Given the description of an element on the screen output the (x, y) to click on. 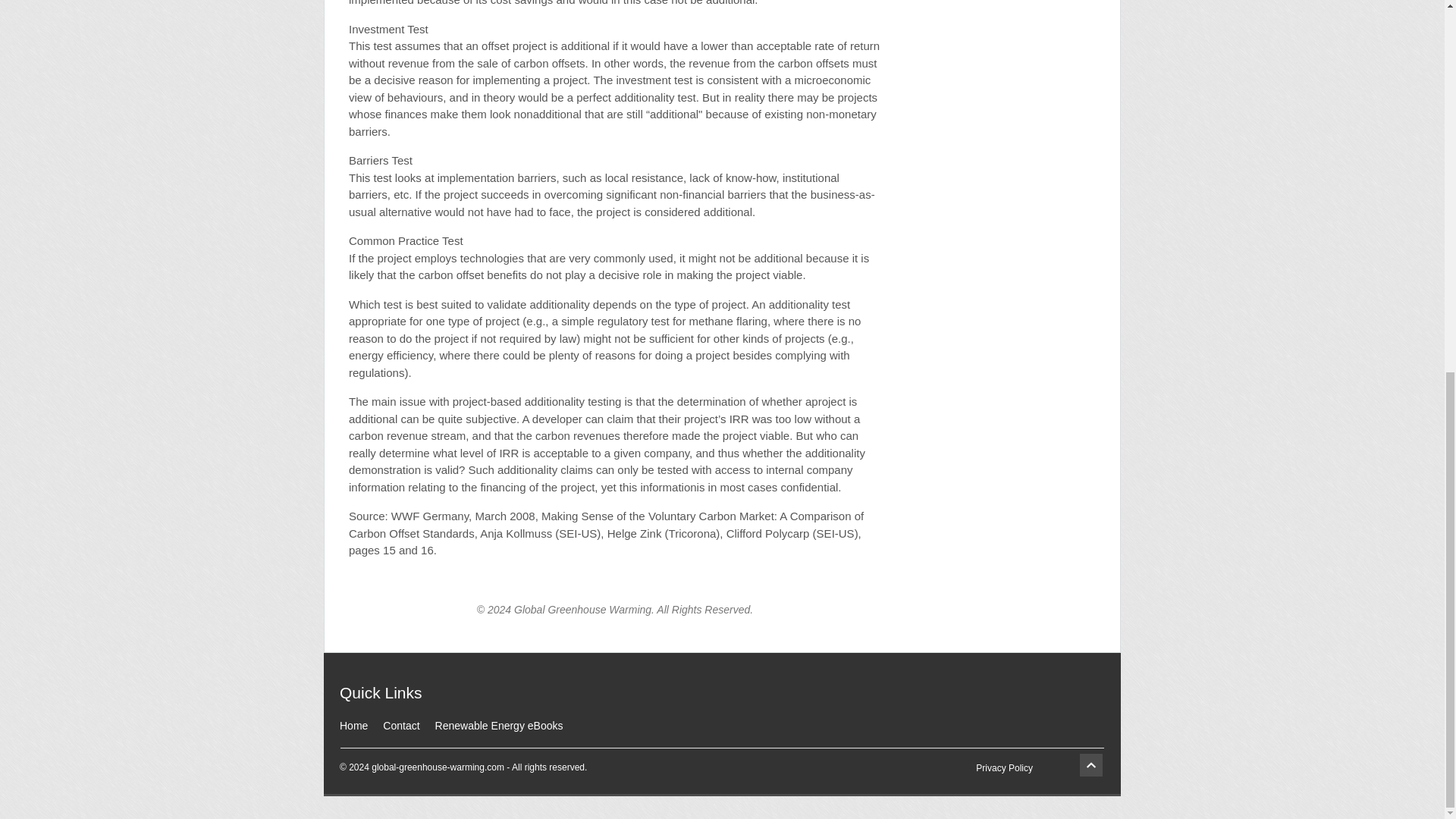
Contact (400, 725)
Renewable Energy eBooks (499, 725)
Privacy Policy (1003, 767)
Home (353, 725)
